Given the description of an element on the screen output the (x, y) to click on. 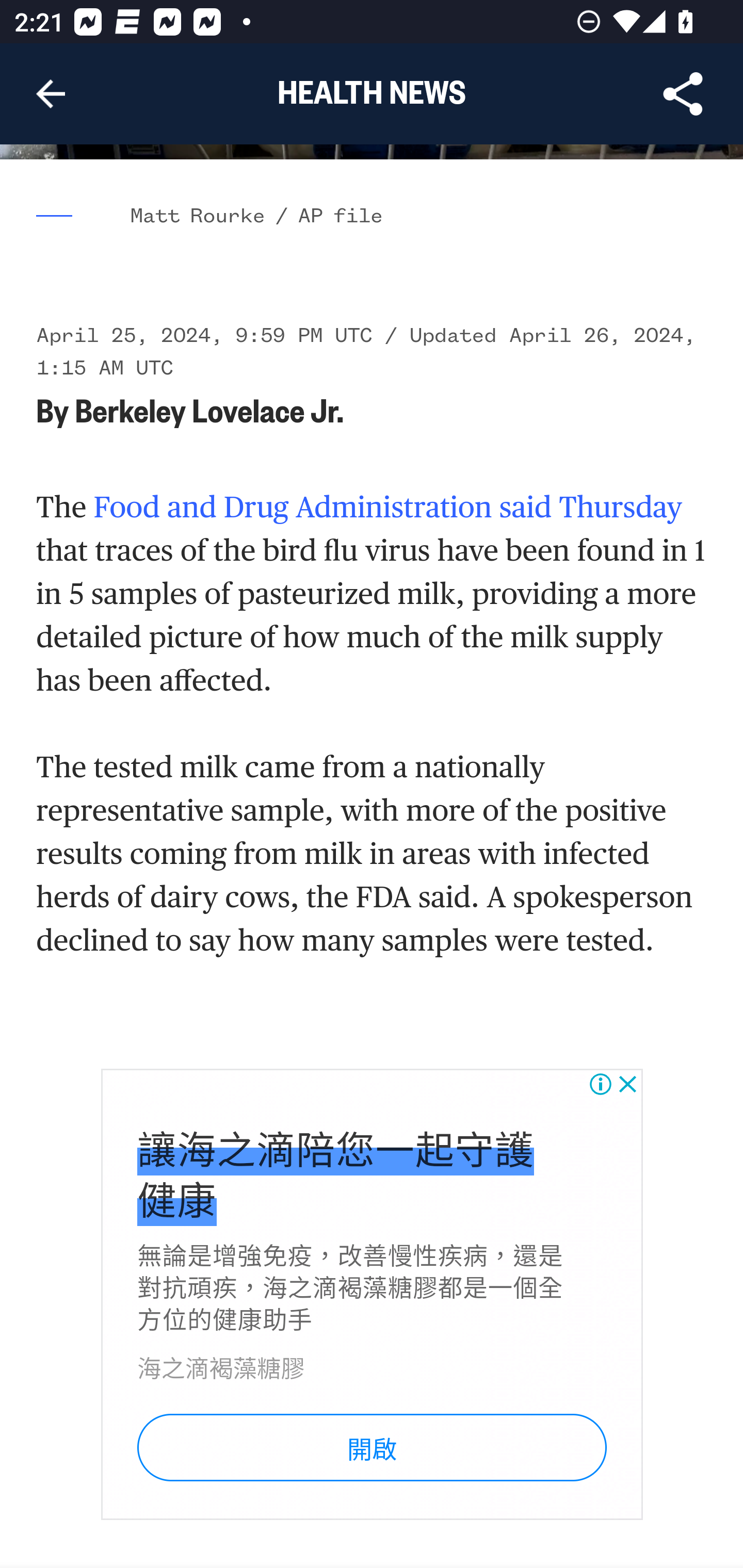
Navigate up (50, 93)
Share Article, button (683, 94)
Food and Drug Administration said Thursday (388, 507)
開啟 (372, 1447)
